Given the description of an element on the screen output the (x, y) to click on. 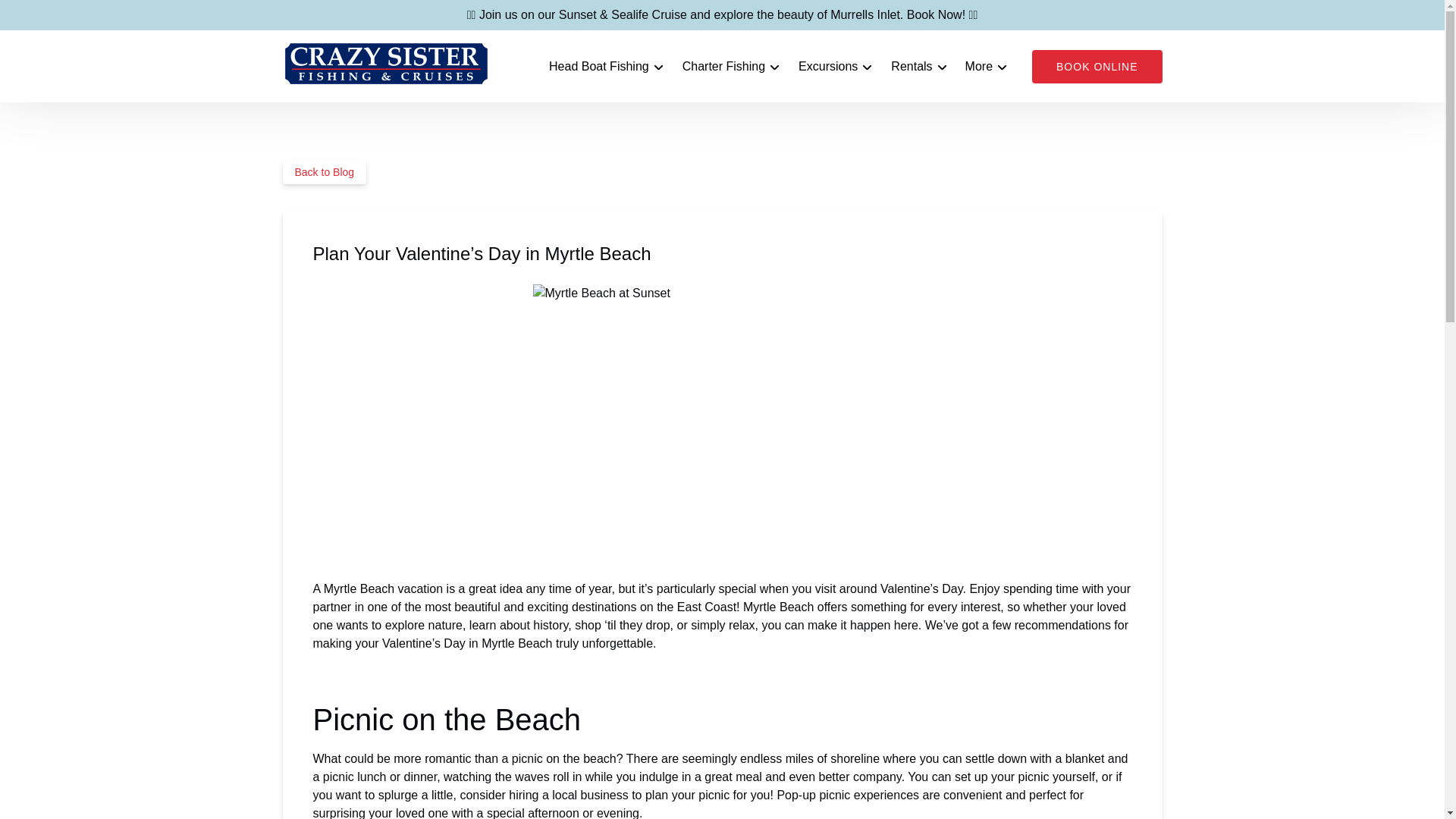
Open Head Boat Fishing Menu (609, 62)
Skip to primary navigation (77, 16)
Rentals (919, 66)
Skip to content (47, 16)
Open Charter Fishing Menu (735, 62)
Skip to footer (42, 16)
Head Boat Fishing (606, 66)
Open Excursions Menu (839, 62)
Excursions (835, 66)
Charter Fishing (730, 66)
